Given the description of an element on the screen output the (x, y) to click on. 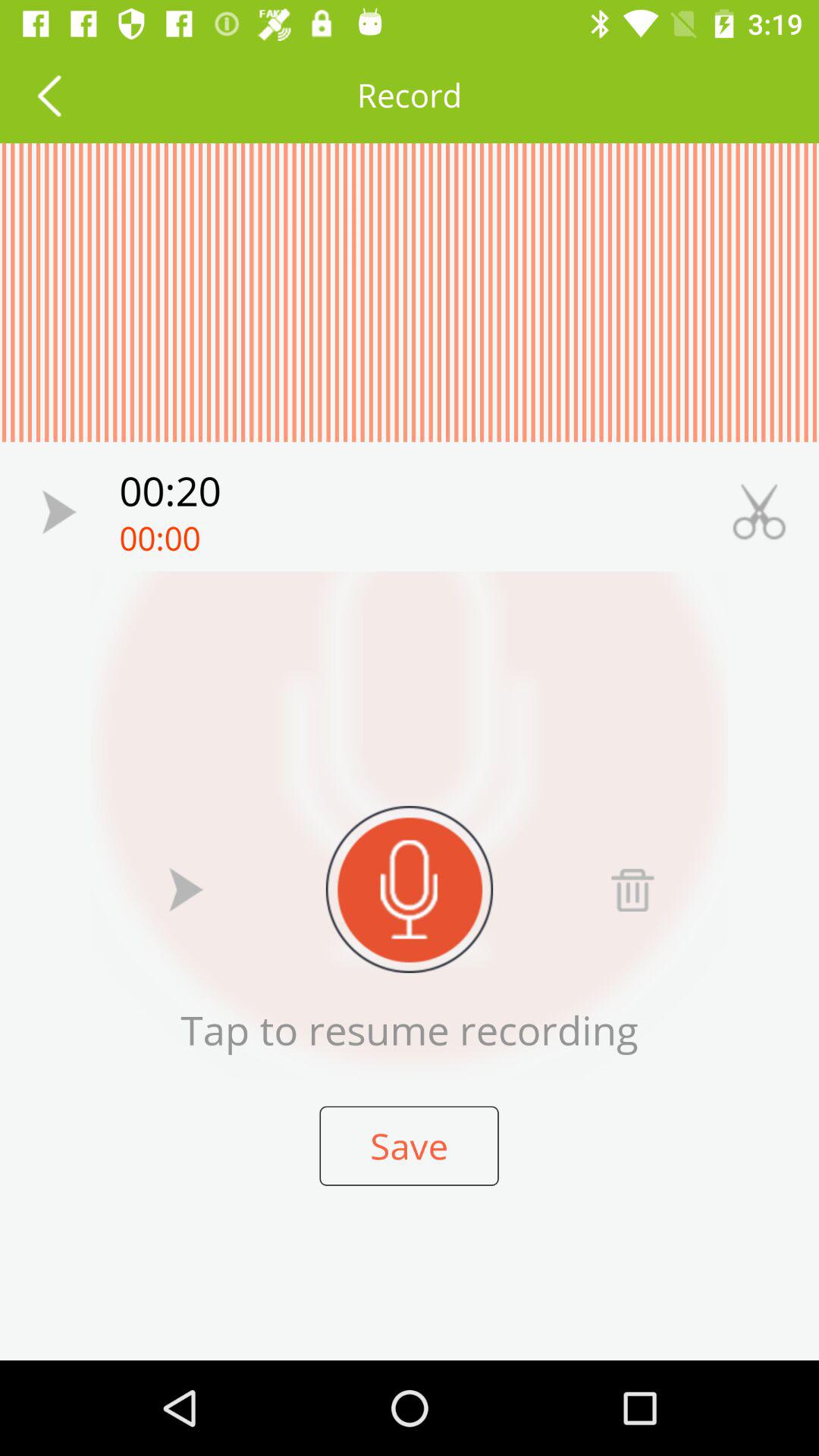
play button (186, 889)
